Given the description of an element on the screen output the (x, y) to click on. 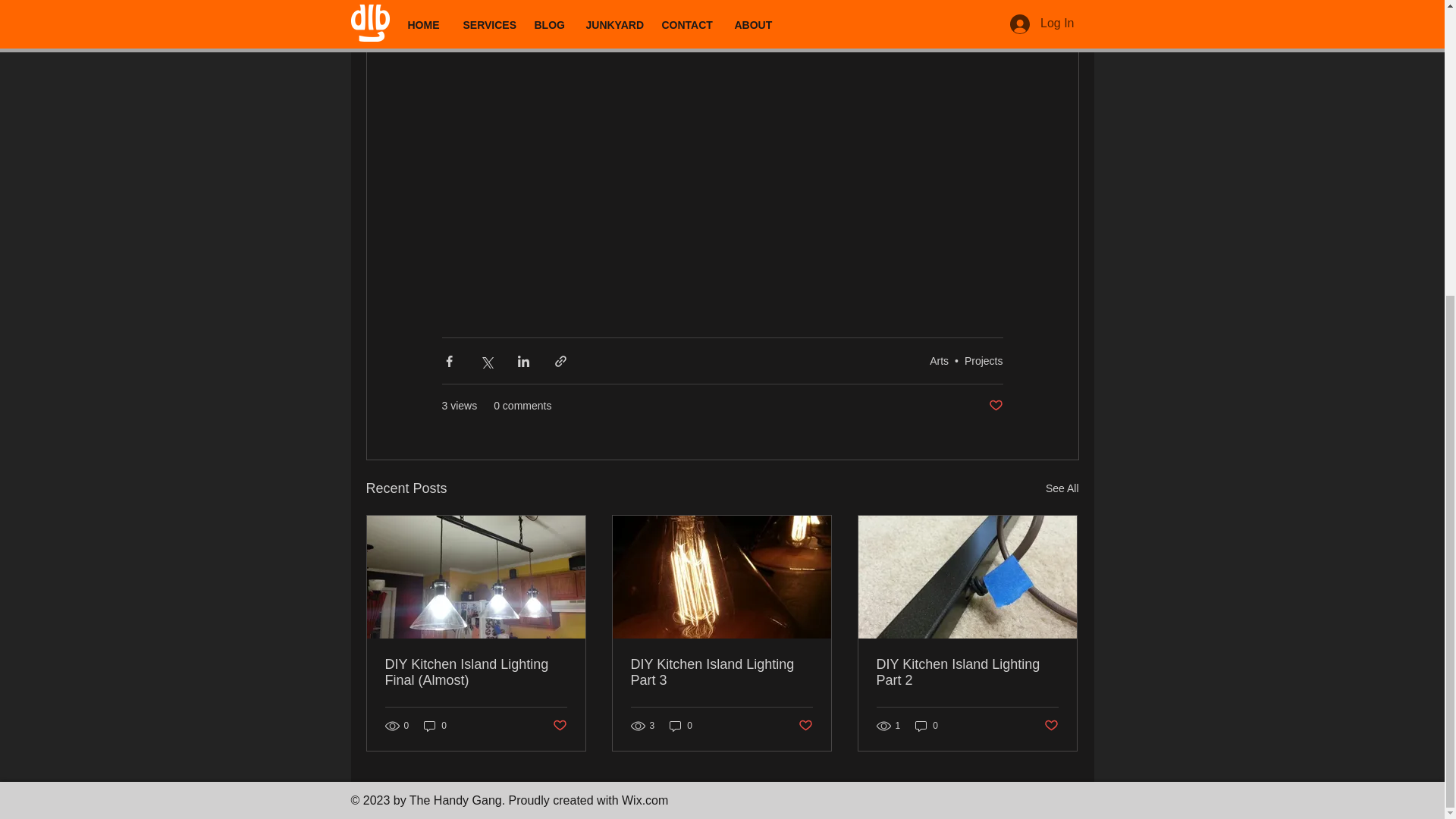
See All (1061, 488)
Post not marked as liked (995, 406)
Arts (939, 360)
Projects (983, 360)
